Given the description of an element on the screen output the (x, y) to click on. 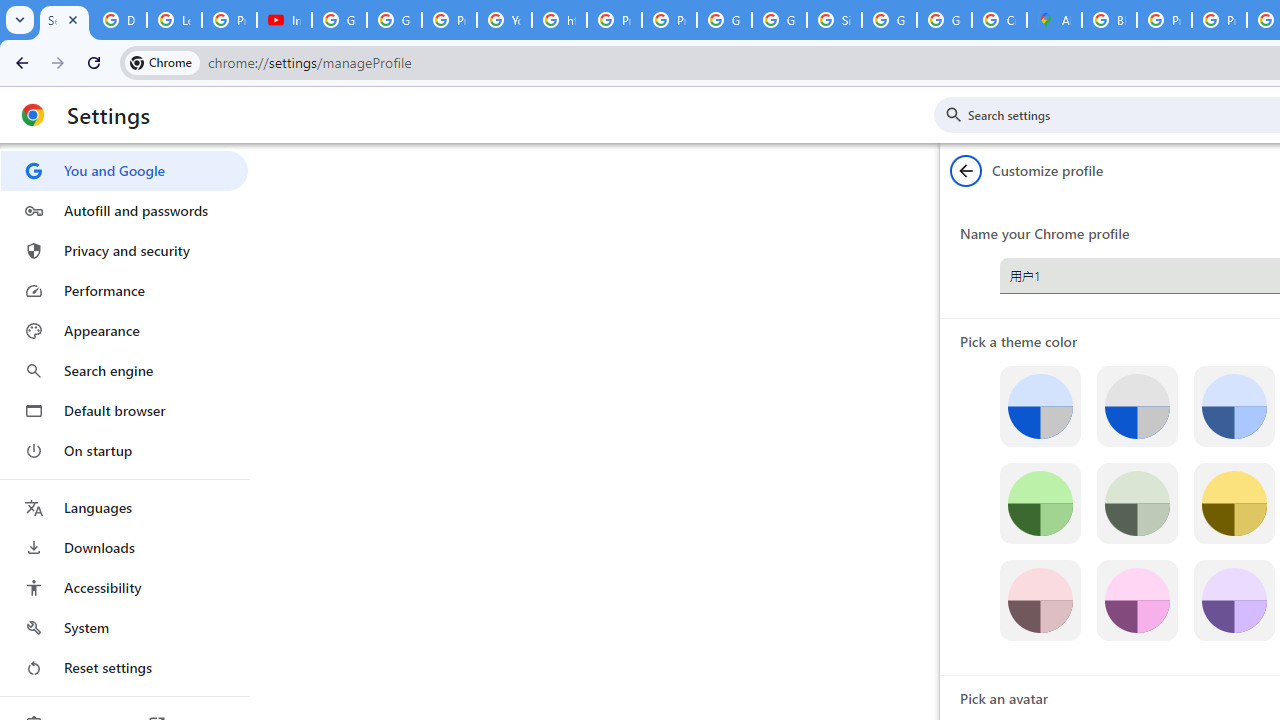
Introduction | Google Privacy Policy - YouTube (284, 20)
Sign in - Google Accounts (833, 20)
Default browser (124, 410)
Delete photos & videos - Computer - Google Photos Help (119, 20)
Google Account Help (339, 20)
On startup (124, 450)
Appearance (124, 331)
Privacy and security (124, 250)
Performance (124, 290)
Accessibility (124, 587)
